Given the description of an element on the screen output the (x, y) to click on. 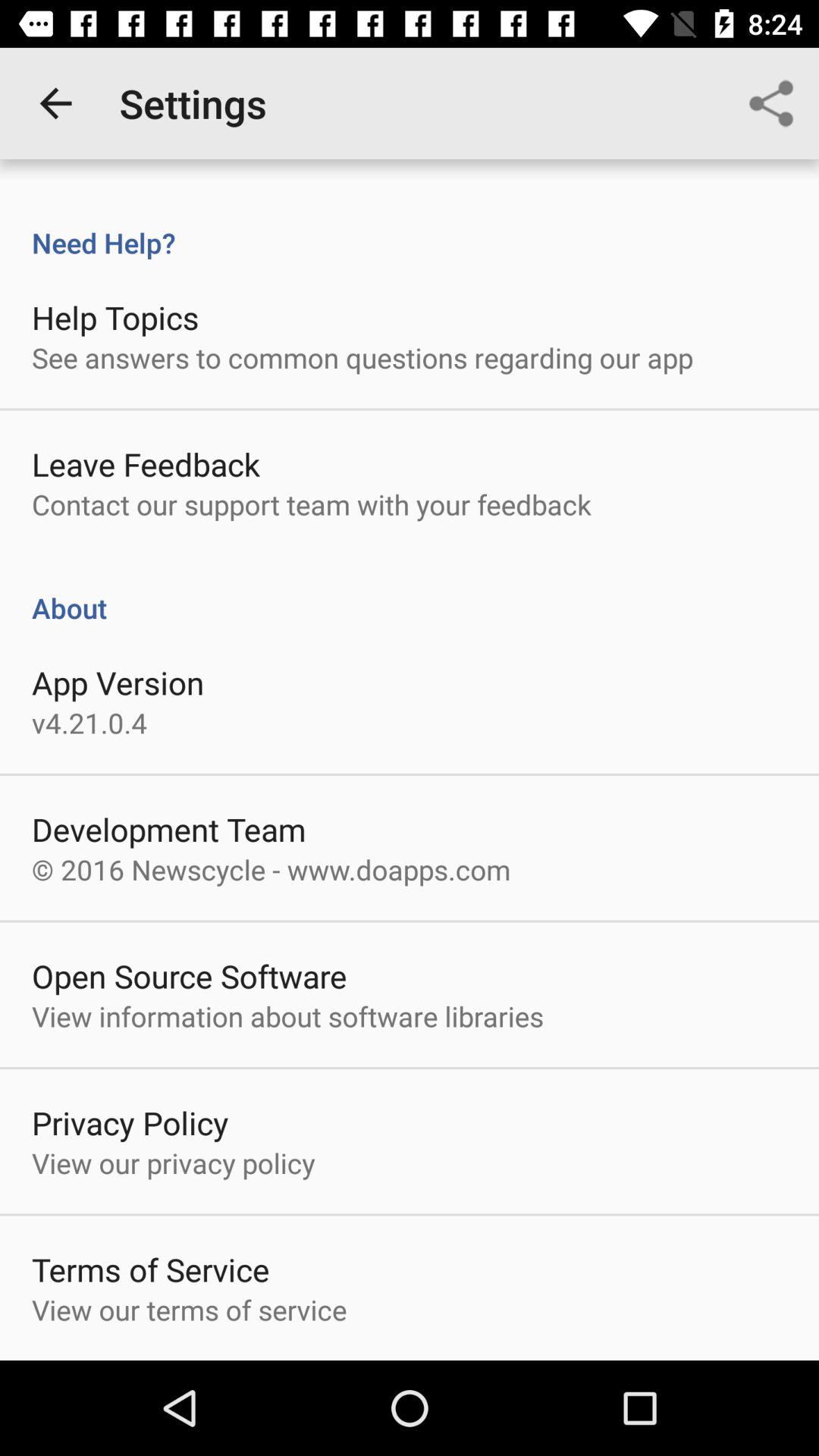
jump to see answers to icon (362, 357)
